Given the description of an element on the screen output the (x, y) to click on. 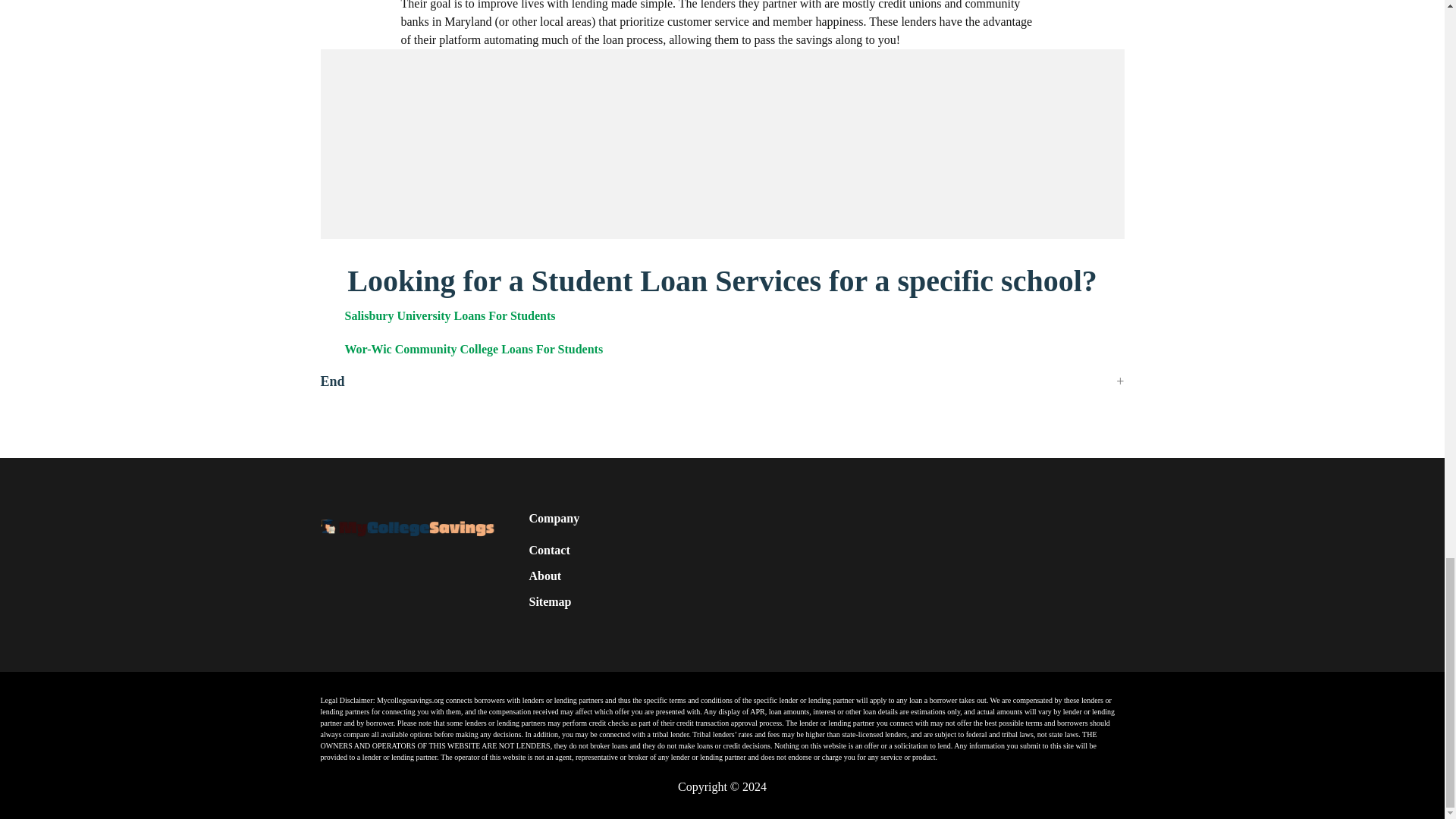
Contact (549, 550)
Salisbury University Loans For Students (448, 315)
Sitemap (550, 601)
About (545, 576)
Wor-Wic Community College Loans For Students (472, 349)
Salisbury University Loans For Students (448, 315)
Wor-Wic Community College Loans For Students (472, 349)
